Given the description of an element on the screen output the (x, y) to click on. 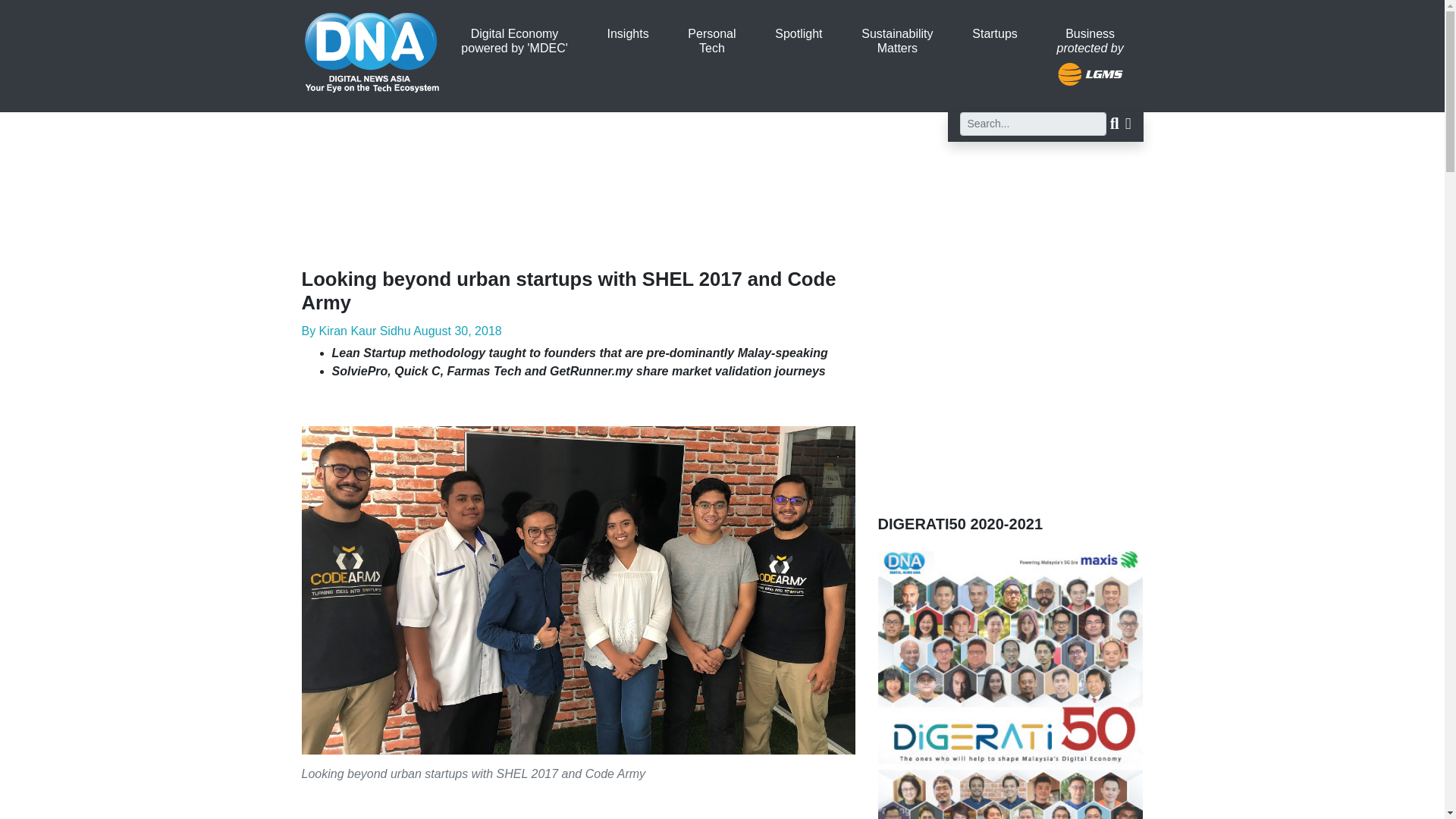
Insights (628, 33)
Skip to main content (711, 40)
